Given the description of an element on the screen output the (x, y) to click on. 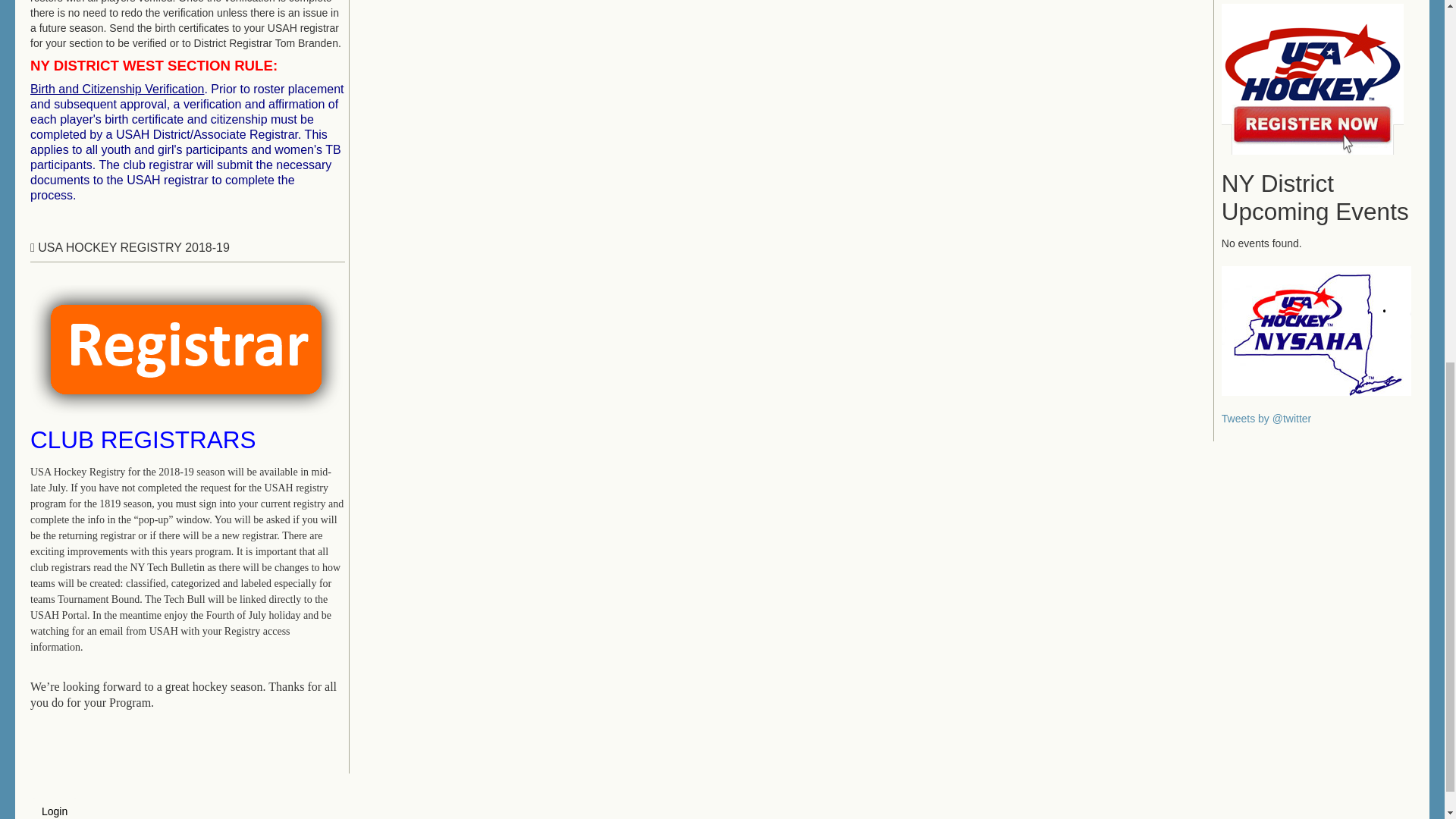
USAH Online Registration 2 (1312, 78)
NY Hockey (1315, 329)
